Given the description of an element on the screen output the (x, y) to click on. 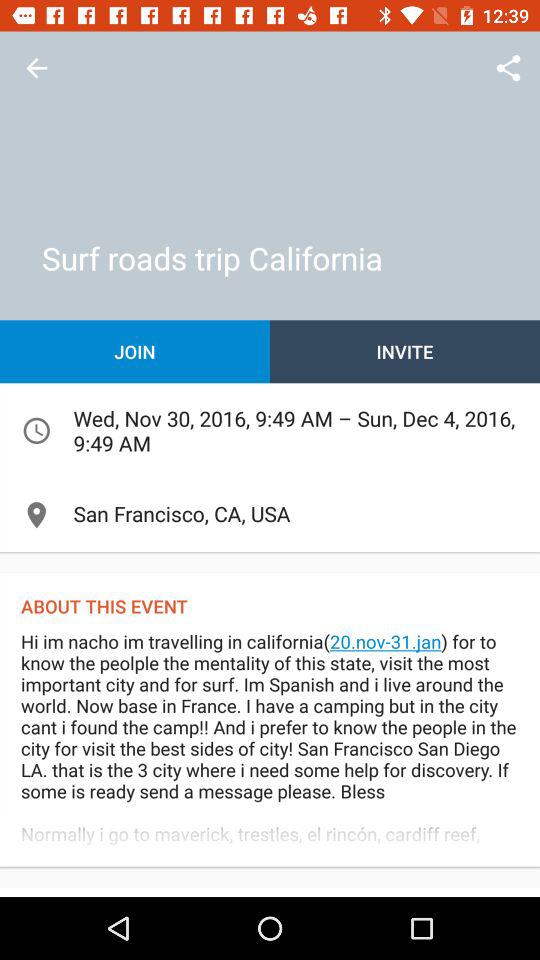
click icon at the top right corner (508, 67)
